Given the description of an element on the screen output the (x, y) to click on. 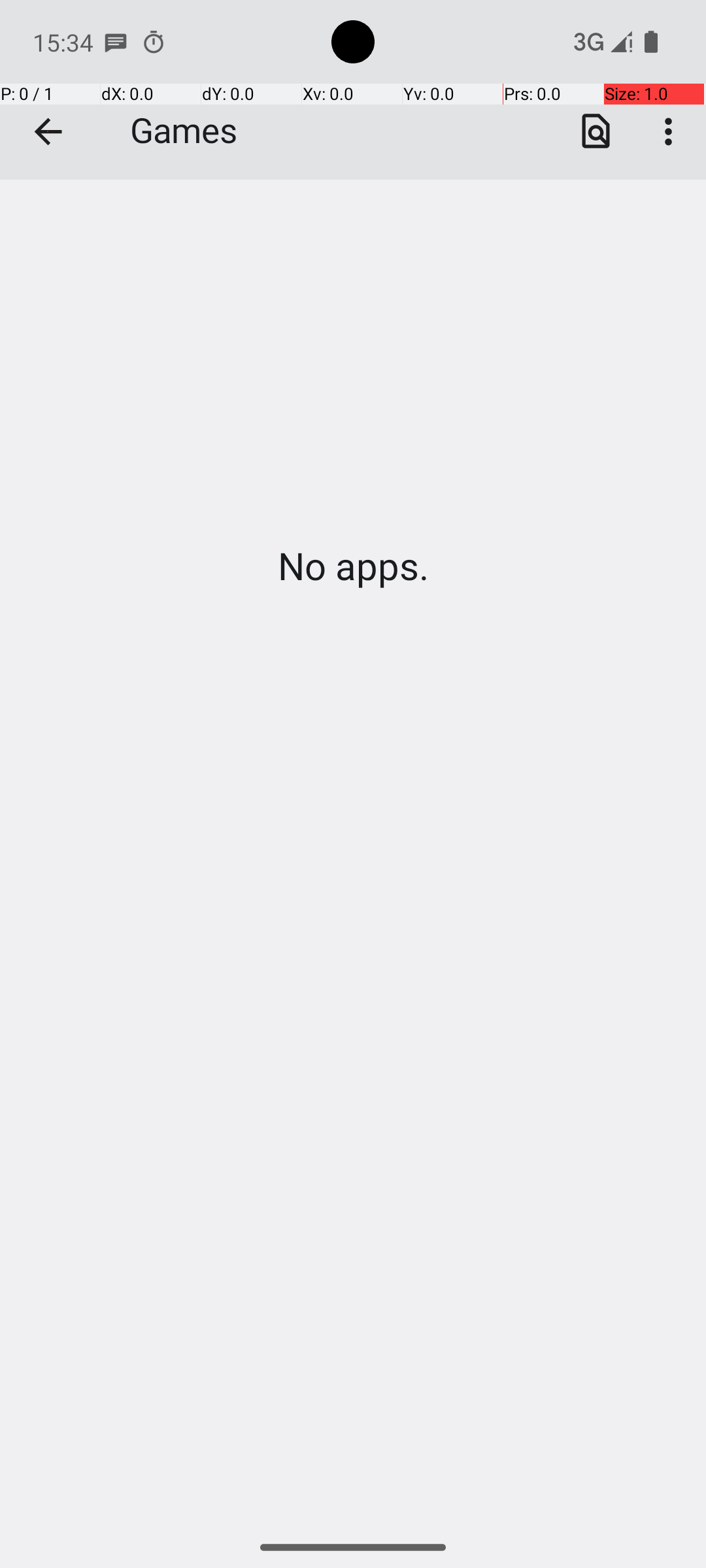
No apps. Element type: android.widget.TextView (353, 565)
